Given the description of an element on the screen output the (x, y) to click on. 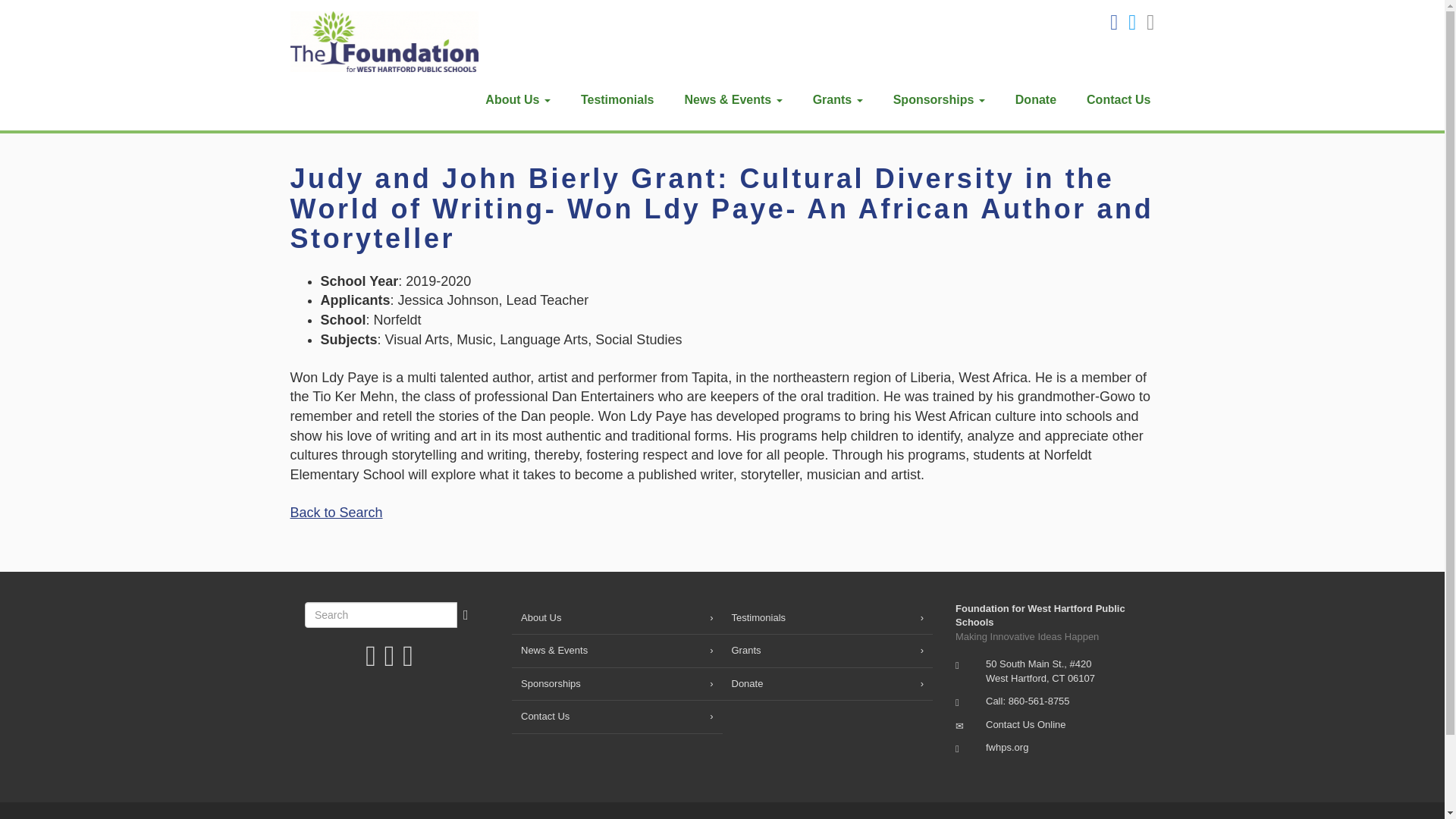
Contact Us (1118, 99)
About Us (617, 618)
About Us  (518, 99)
Grants  (837, 99)
Contact Us (1025, 724)
Testimonials (827, 618)
Back to Search (335, 512)
Testimonials (617, 99)
Donate (1035, 99)
Sponsorships  (938, 99)
